Given the description of an element on the screen output the (x, y) to click on. 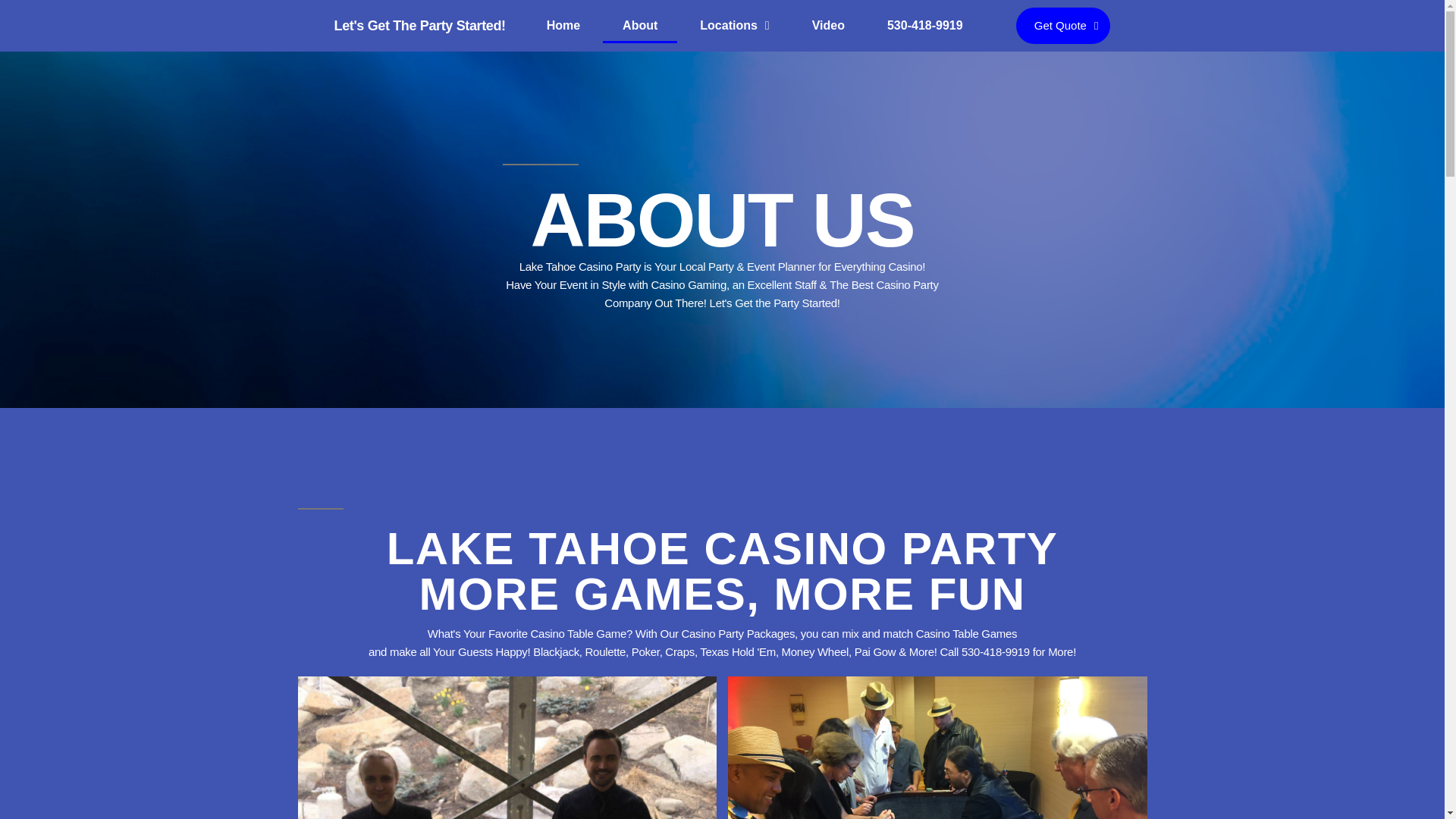
530-418-9919 (924, 11)
About (639, 4)
Locations (734, 5)
Home (563, 4)
Get Quote (1063, 25)
Video (828, 11)
